Given the description of an element on the screen output the (x, y) to click on. 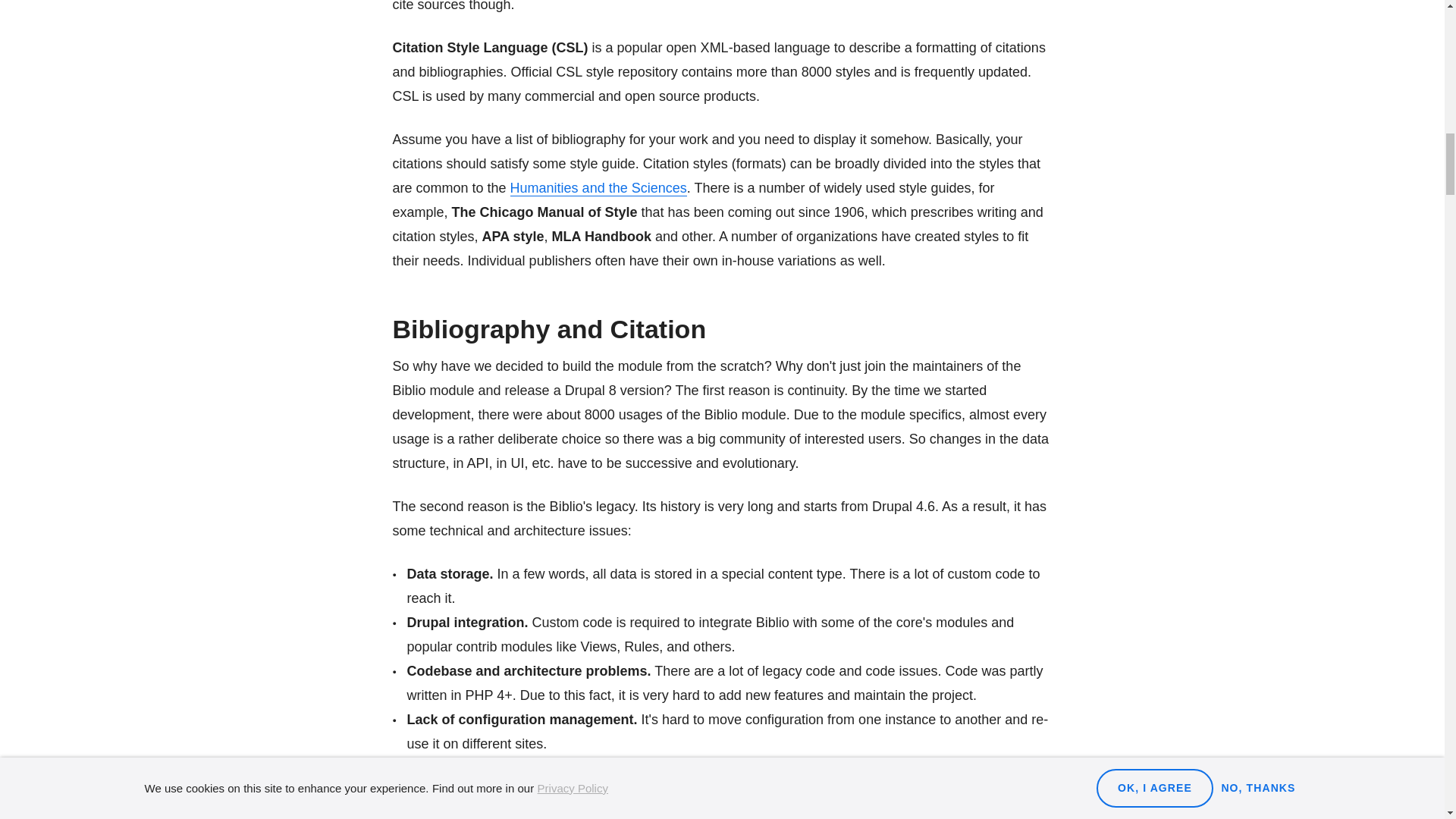
Humanities and the Sciences (599, 188)
